Given the description of an element on the screen output the (x, y) to click on. 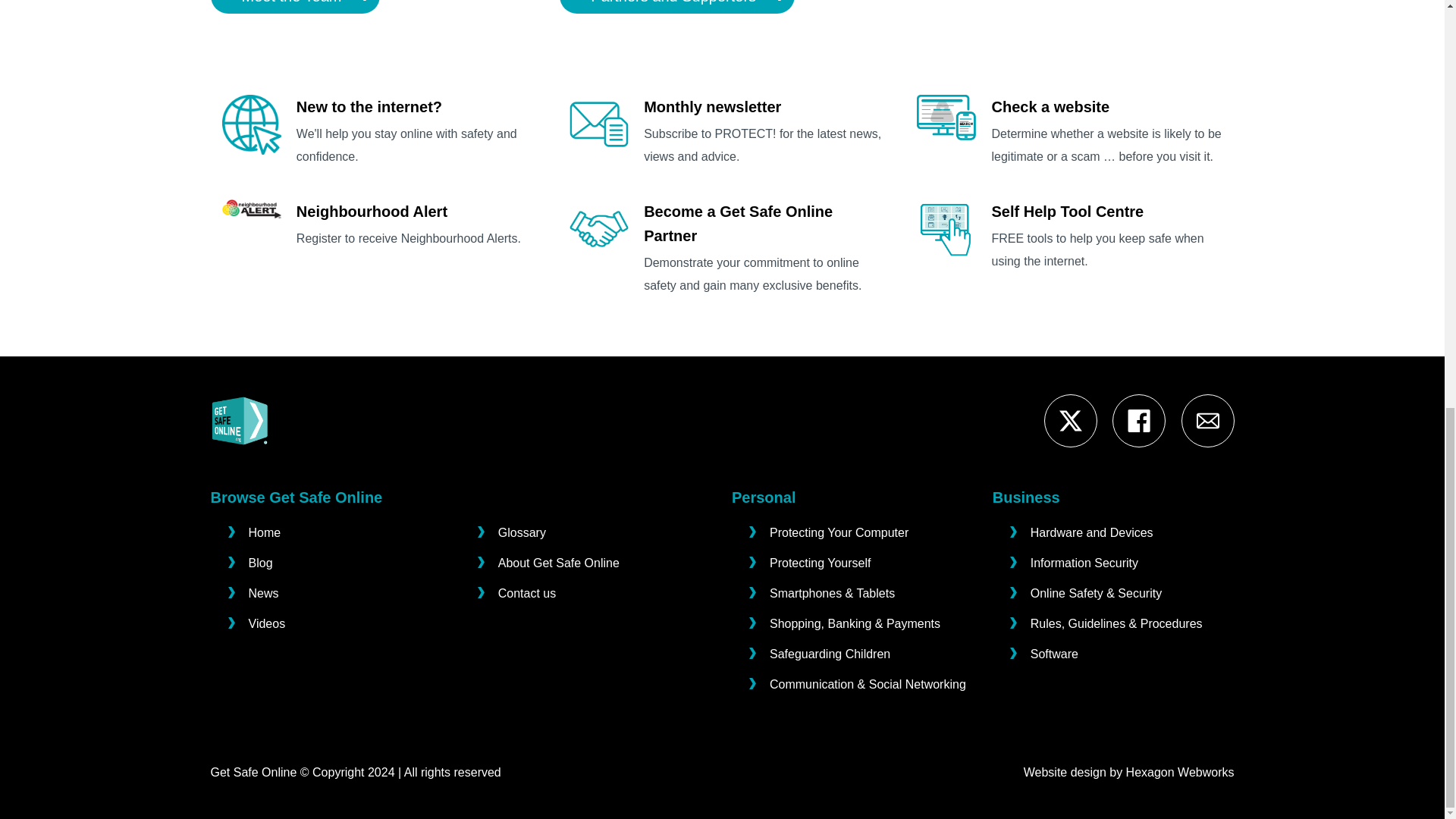
Digital Agency Oxford (1179, 771)
Get Safe Online facebook (1138, 420)
Get Safe Online twitter (1070, 420)
Get Safe Online email (1208, 420)
